Given the description of an element on the screen output the (x, y) to click on. 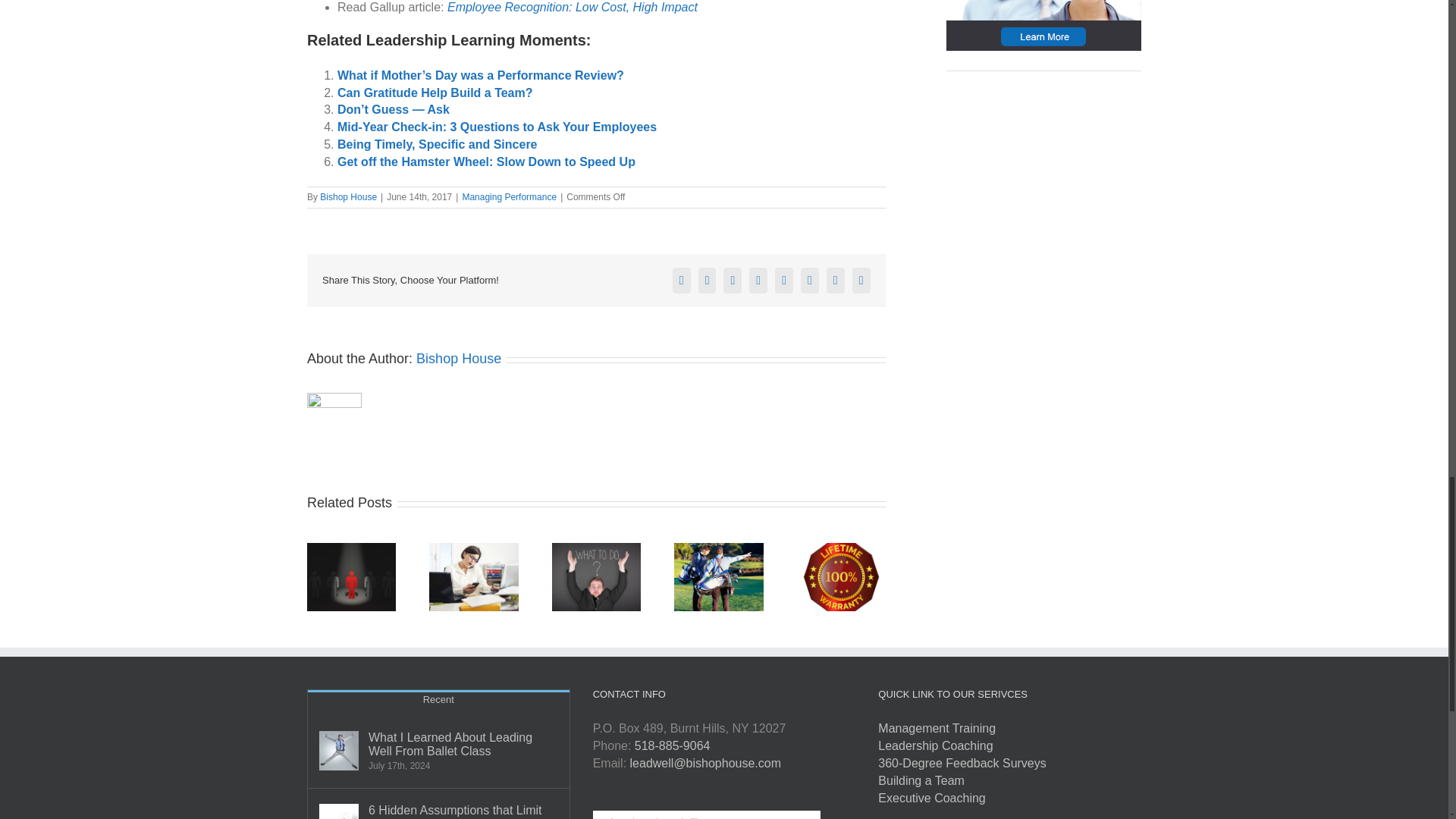
Being Timely, Specific and Sincere (437, 144)
Mid-Year Check-in: 3 Questions to Ask Your Employees (496, 126)
Can Gratitude Help Build a Team? (434, 92)
Posts by Bishop House (348, 196)
Get off the Hamster Wheel: Slow Down to Speed Up (485, 161)
